Given the description of an element on the screen output the (x, y) to click on. 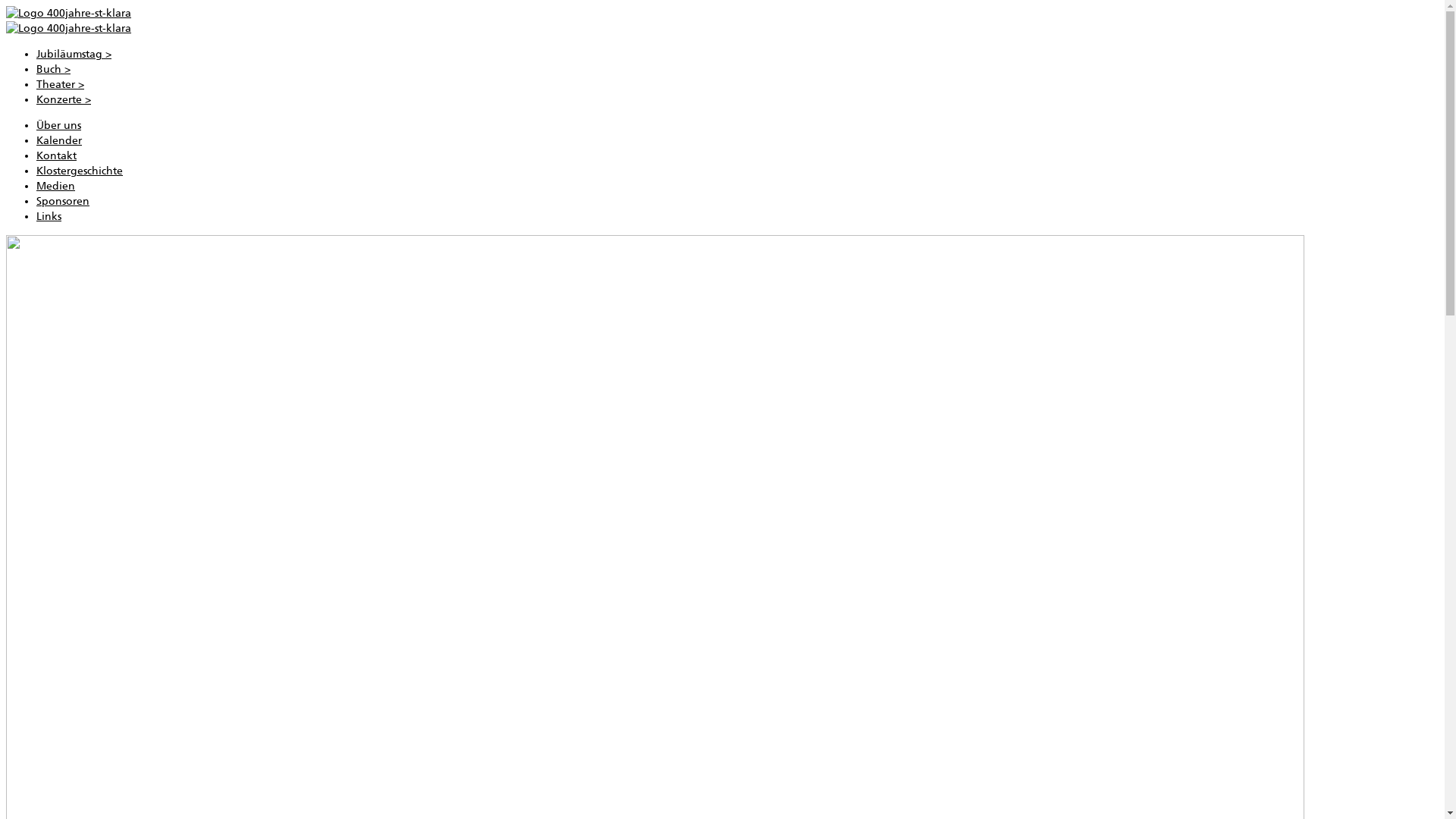
Klostergeschichte Element type: text (79, 170)
Sponsoren Element type: text (62, 200)
Links Element type: text (48, 216)
Kontakt Element type: text (56, 155)
Konzerte > Element type: text (63, 99)
Kalender Element type: text (58, 140)
Medien Element type: text (55, 185)
Theater > Element type: text (60, 84)
Buch > Element type: text (53, 68)
